Given the description of an element on the screen output the (x, y) to click on. 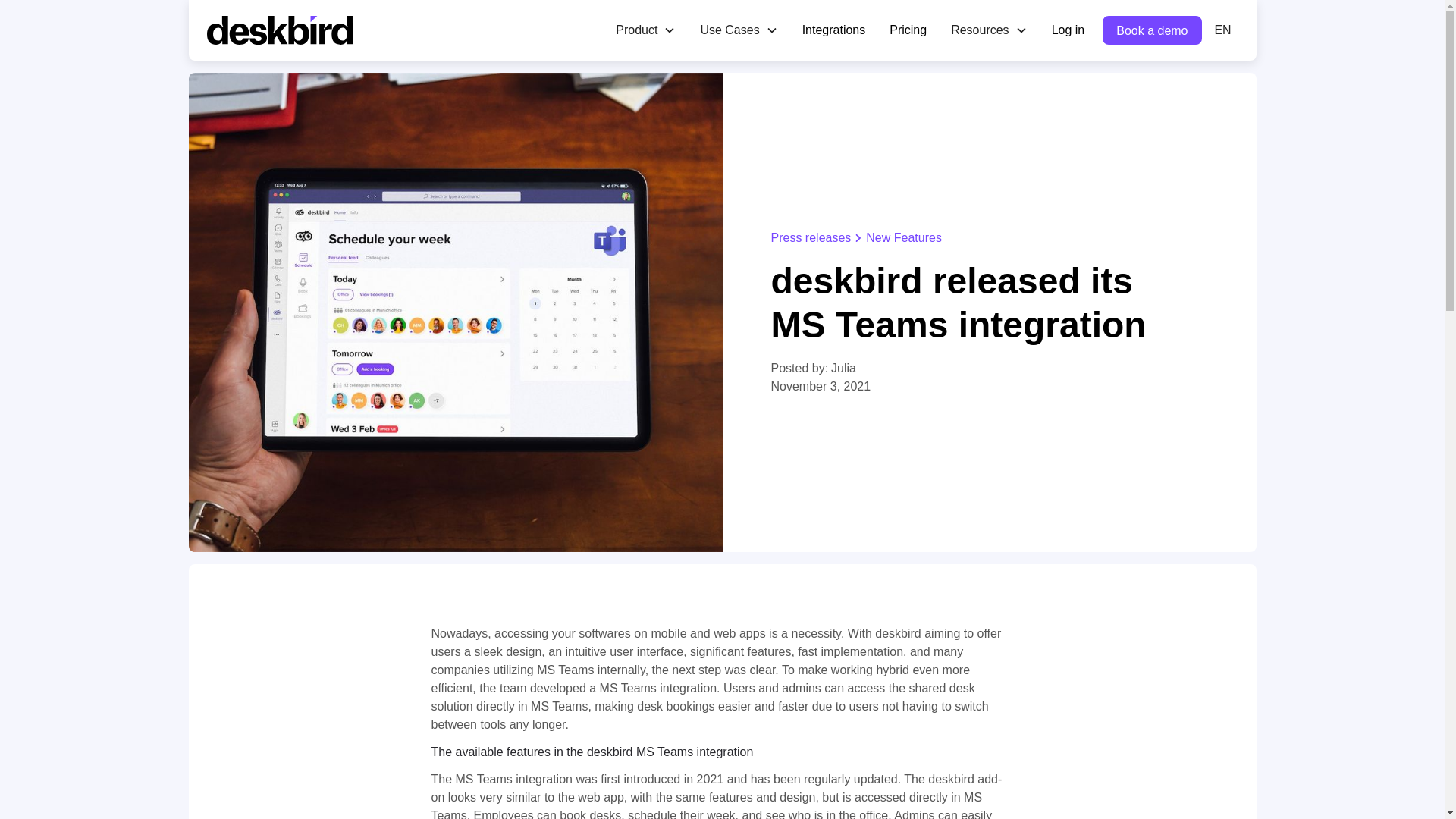
Book a demo (1151, 30)
Integrations (834, 30)
Log in (1067, 30)
Pricing (907, 30)
